Given the description of an element on the screen output the (x, y) to click on. 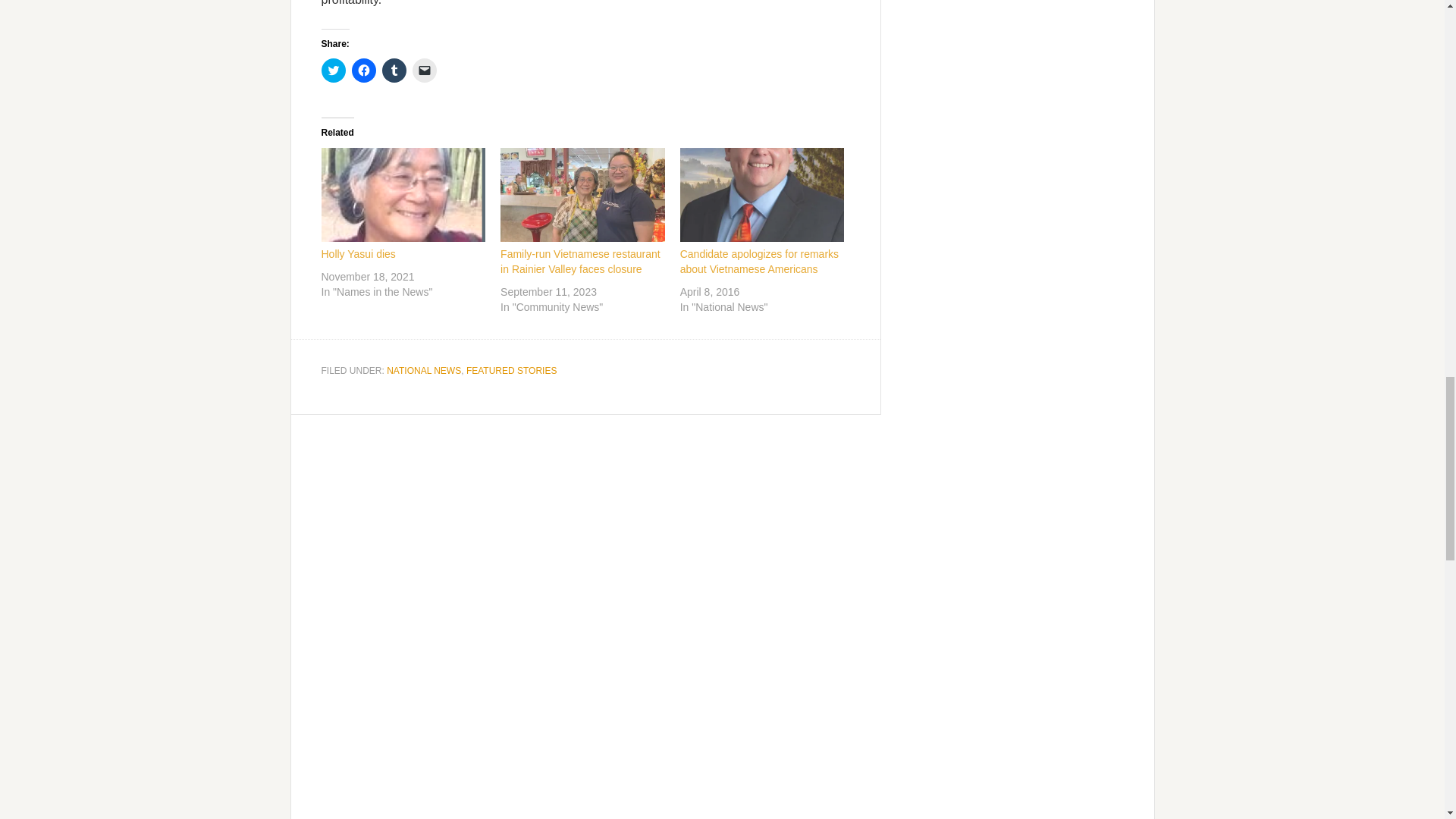
Candidate apologizes for remarks about Vietnamese Americans (761, 194)
Click to email a link to a friend (424, 70)
Click to share on Facebook (363, 70)
Candidate apologizes for remarks about Vietnamese Americans (758, 261)
Holly Yasui dies (358, 254)
Holly Yasui dies (403, 194)
Click to share on Twitter (333, 70)
Click to share on Tumblr (393, 70)
